Given the description of an element on the screen output the (x, y) to click on. 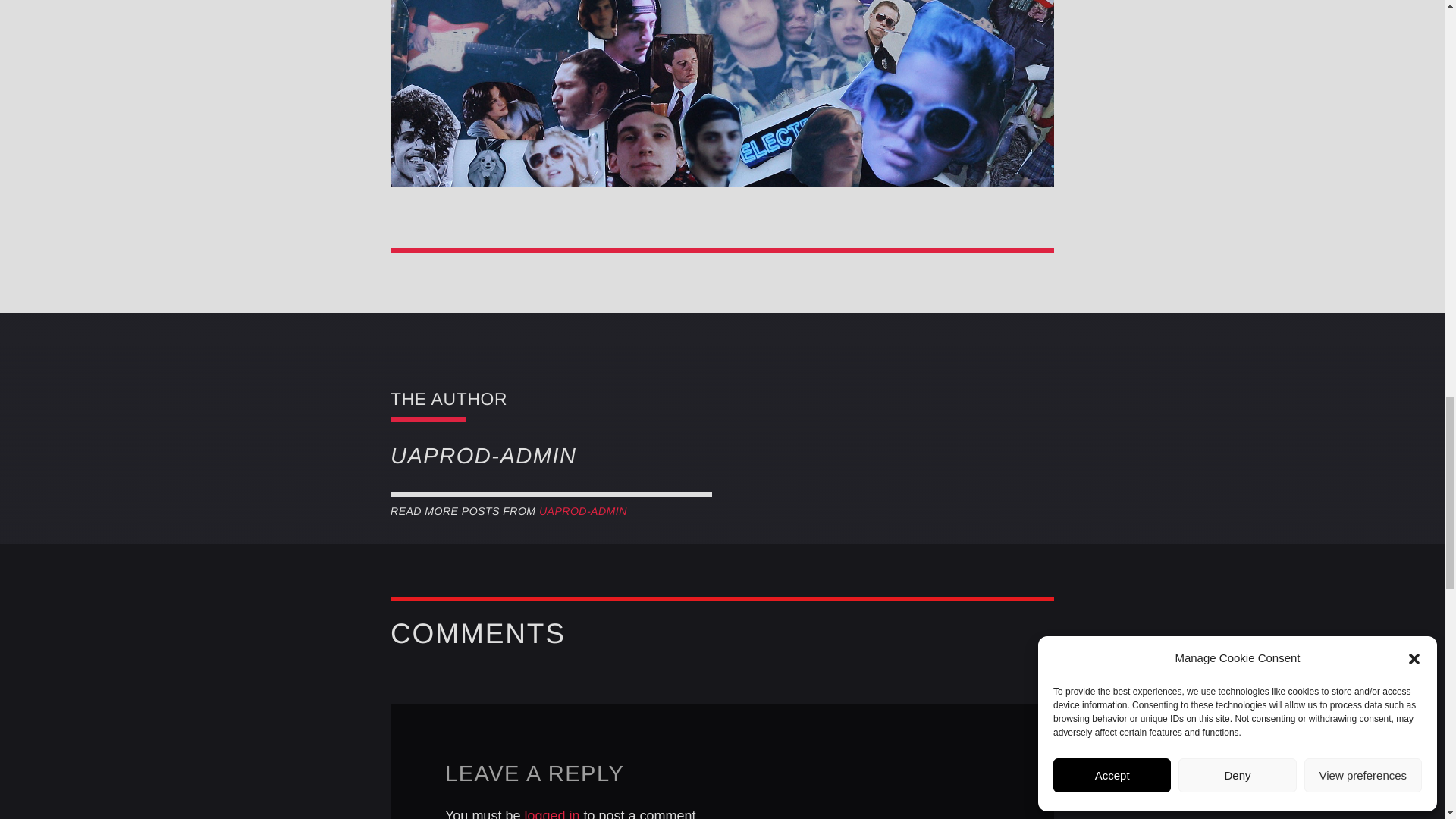
Posts by uaprod-admin (582, 510)
UAPROD-ADMIN (582, 510)
